Given the description of an element on the screen output the (x, y) to click on. 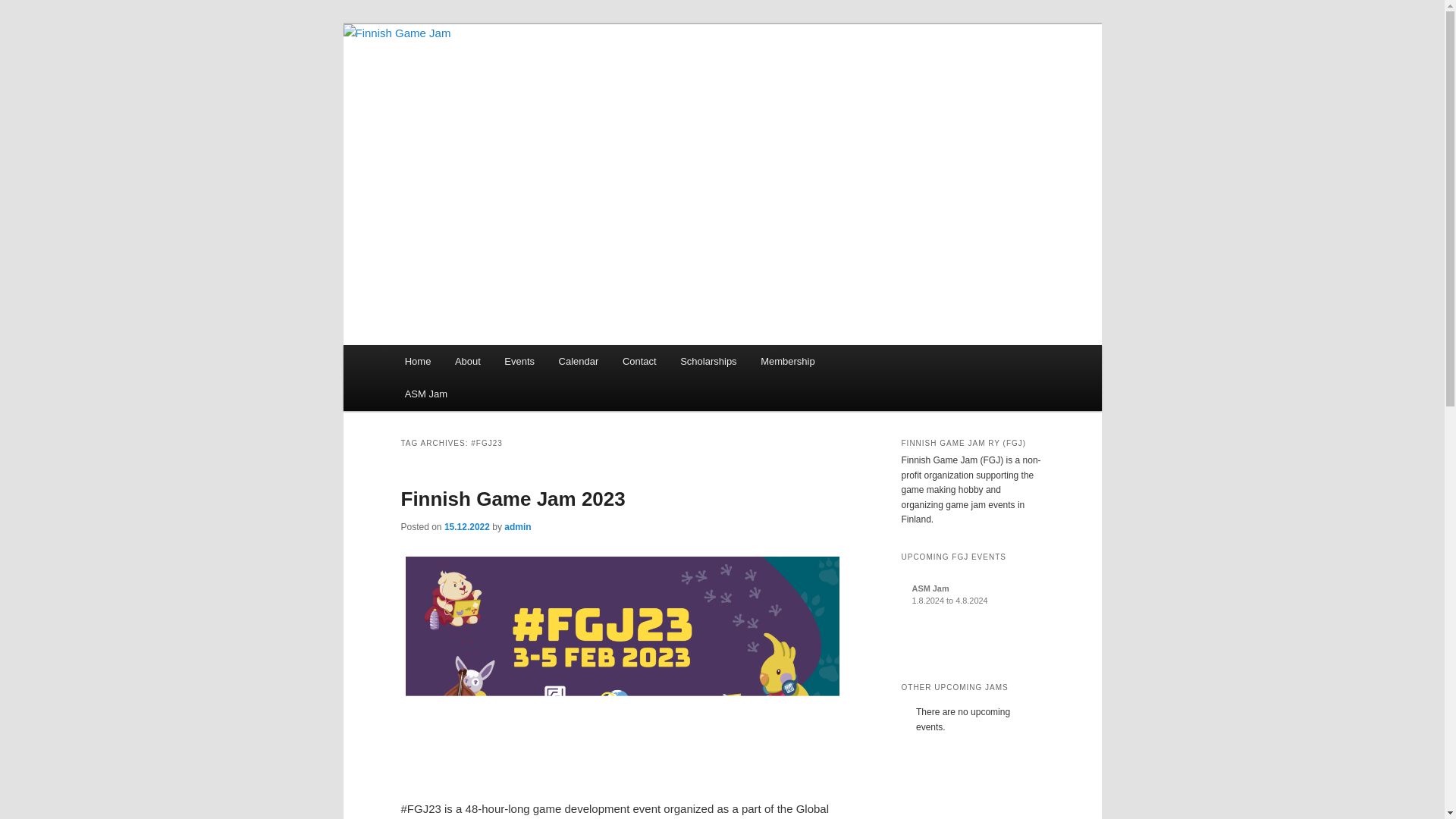
Finnish Game Jam 2023 (512, 498)
View all posts by admin (517, 526)
admin (517, 526)
Contact (639, 360)
Scholarships (708, 360)
13:30 (466, 526)
Calendar (578, 360)
Membership (787, 360)
About (467, 360)
ASM Jam (426, 393)
Finnish Game Jam (501, 78)
Events (520, 360)
Home (417, 360)
15.12.2022 (466, 526)
